Given the description of an element on the screen output the (x, y) to click on. 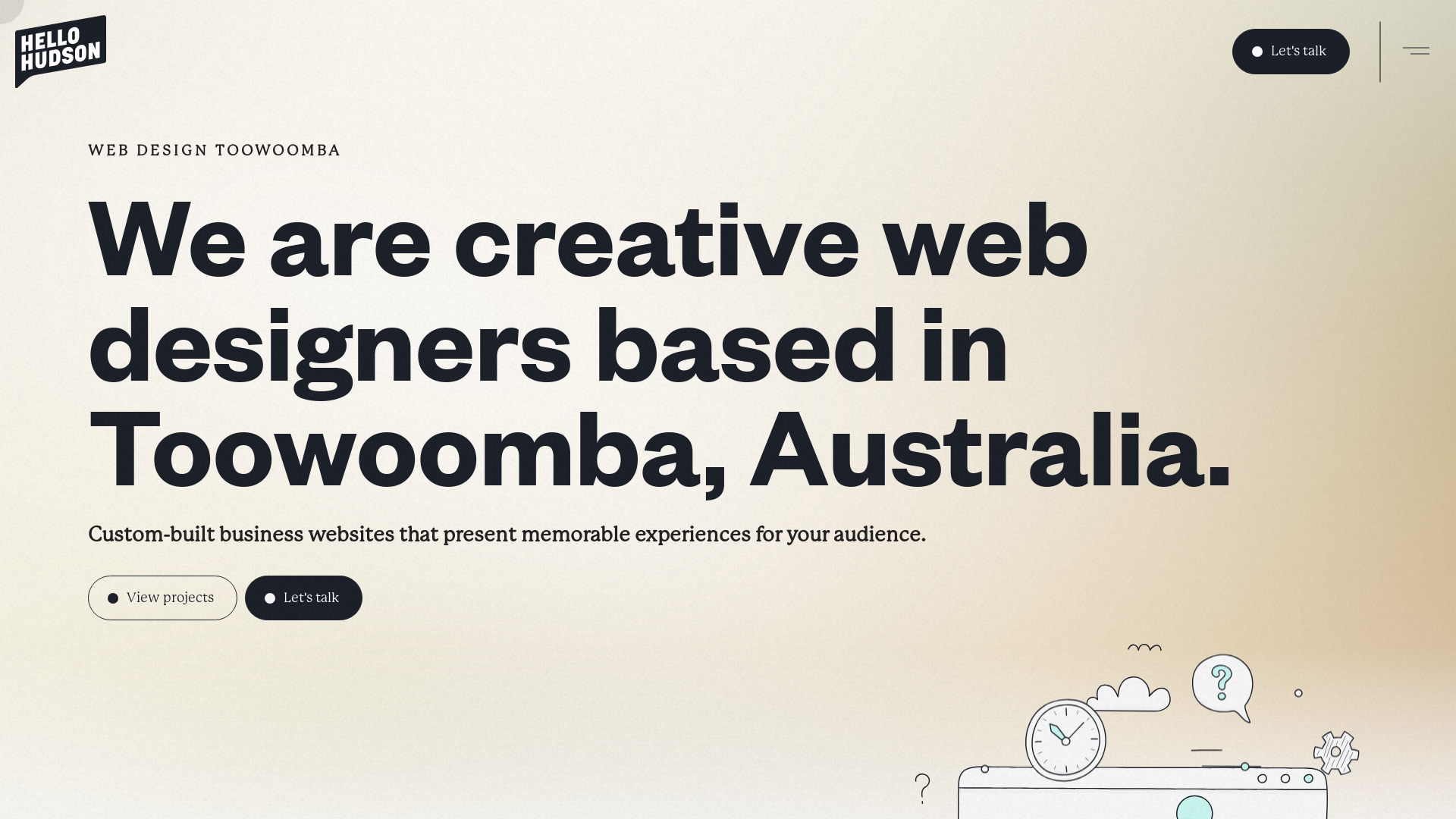
View projects Element type: text (162, 598)
Let's talk Element type: text (303, 598)
Let's talk Element type: text (1290, 51)
